Given the description of an element on the screen output the (x, y) to click on. 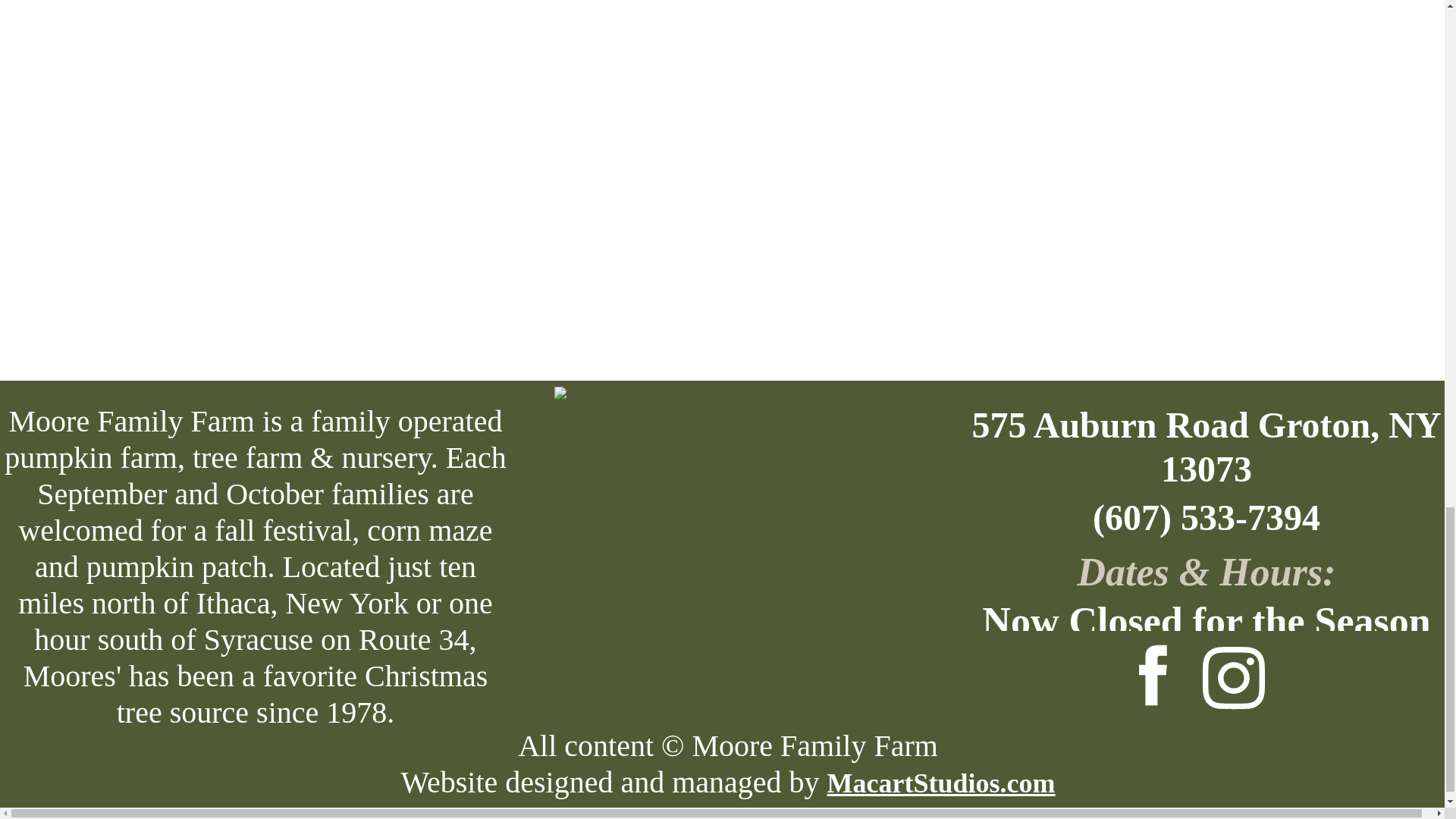
Moore Family Farms (728, 550)
MacartStudios.com (941, 783)
